Given the description of an element on the screen output the (x, y) to click on. 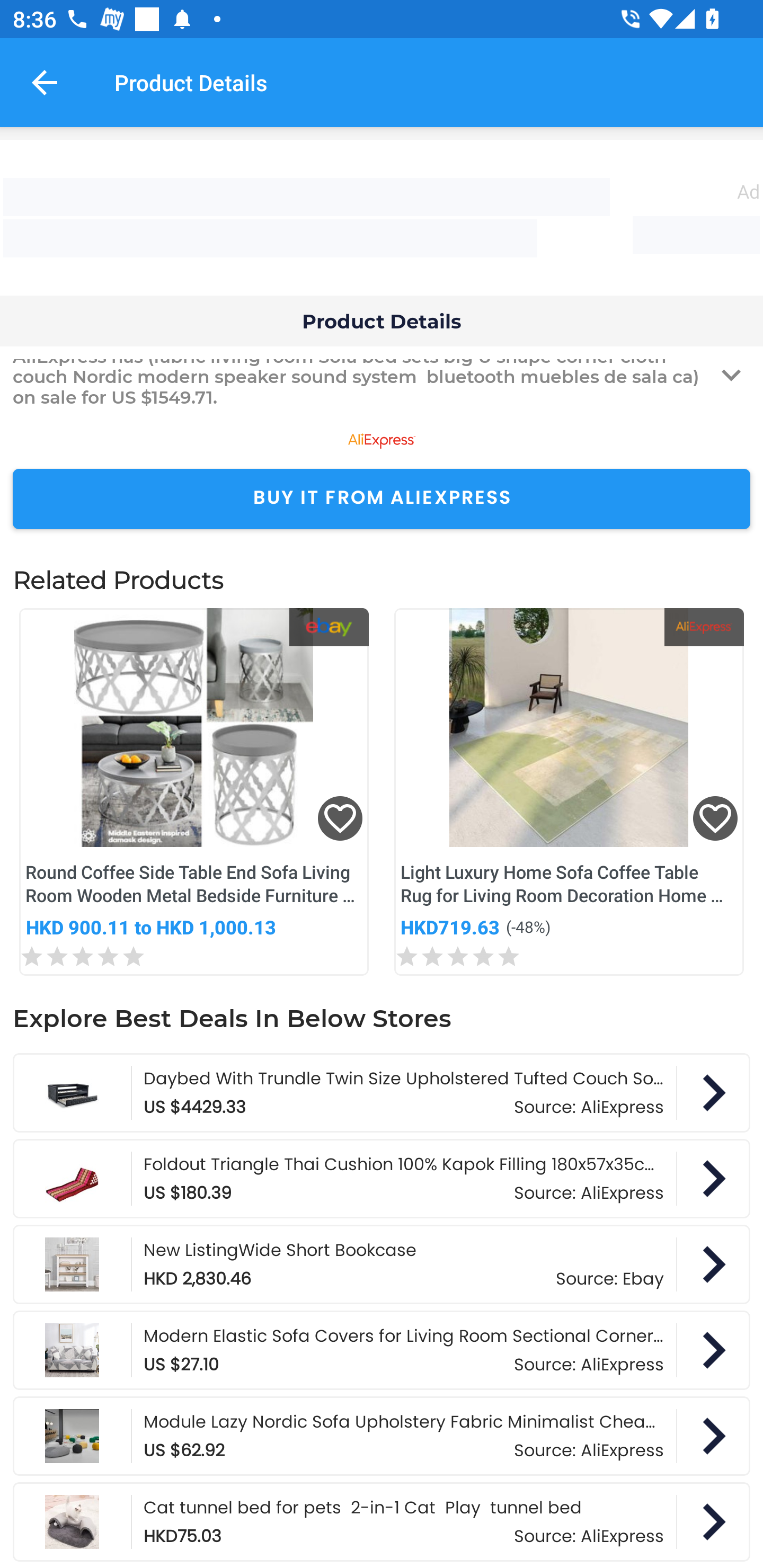
Navigate up (44, 82)
BUY IT FROM ALIEXPRESS (381, 499)
